Given the description of an element on the screen output the (x, y) to click on. 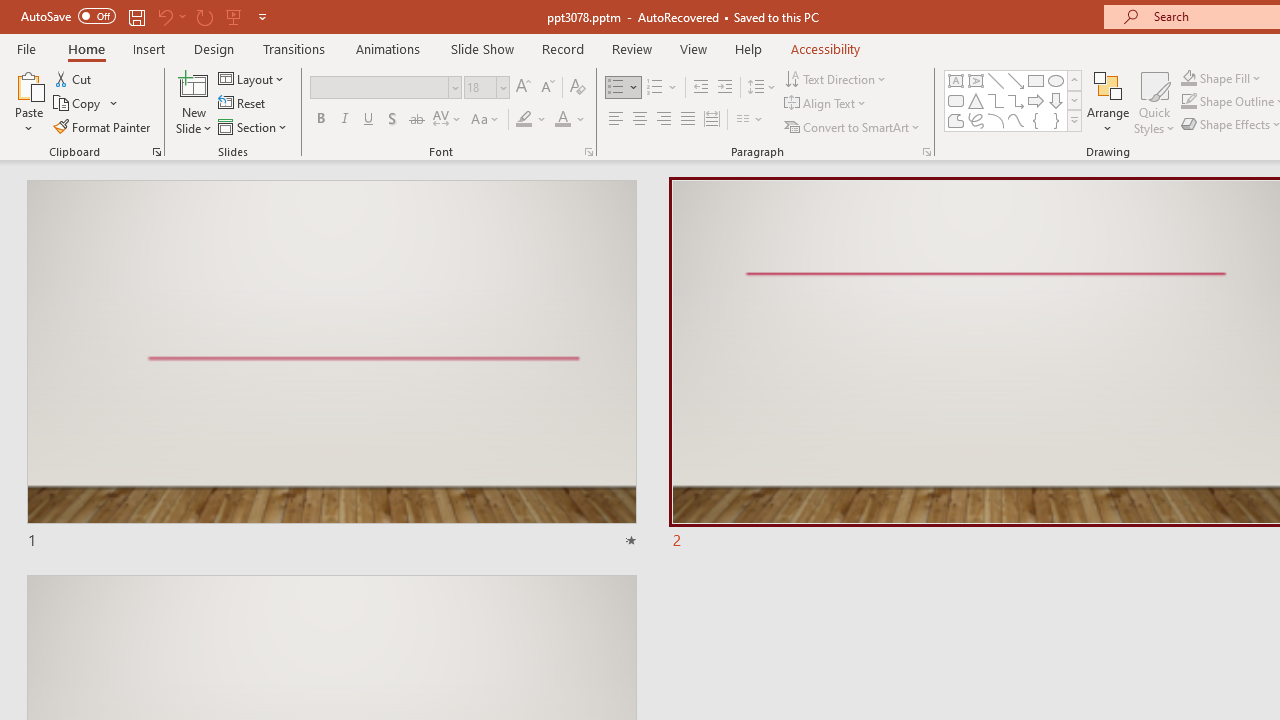
Shape Fill Dark Green, Accent 2 (1188, 78)
